Given the description of an element on the screen output the (x, y) to click on. 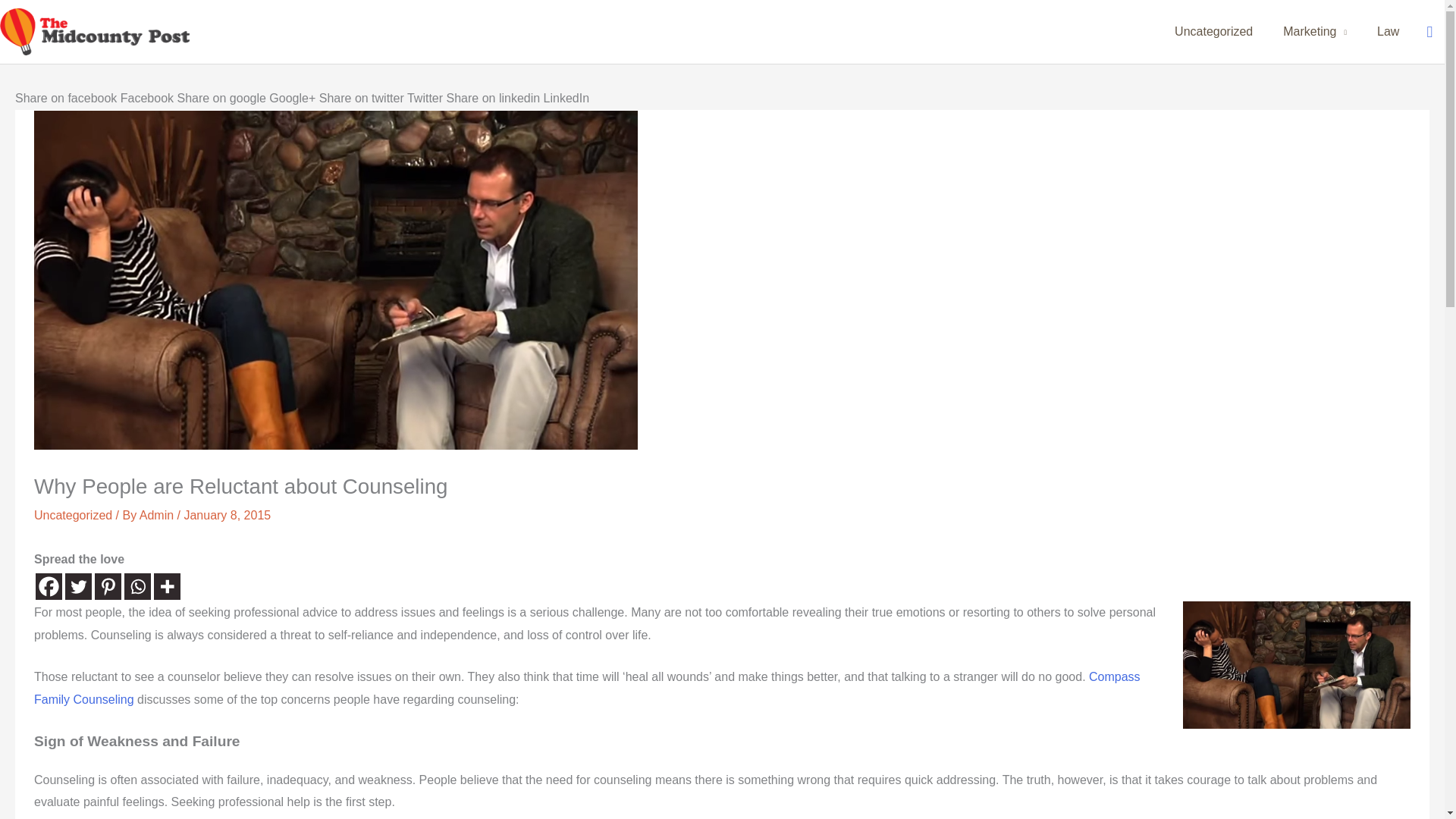
Facebook (48, 586)
Compass Family Counseling (586, 687)
Uncategorized (1213, 31)
Pinterest (107, 586)
Whatsapp (137, 586)
Uncategorized (72, 514)
View all posts by Admin (158, 514)
Twitter (78, 586)
More (167, 586)
Admin (158, 514)
Law (1387, 31)
Compass Family Counseling  (586, 687)
Marketing (1314, 31)
